Given the description of an element on the screen output the (x, y) to click on. 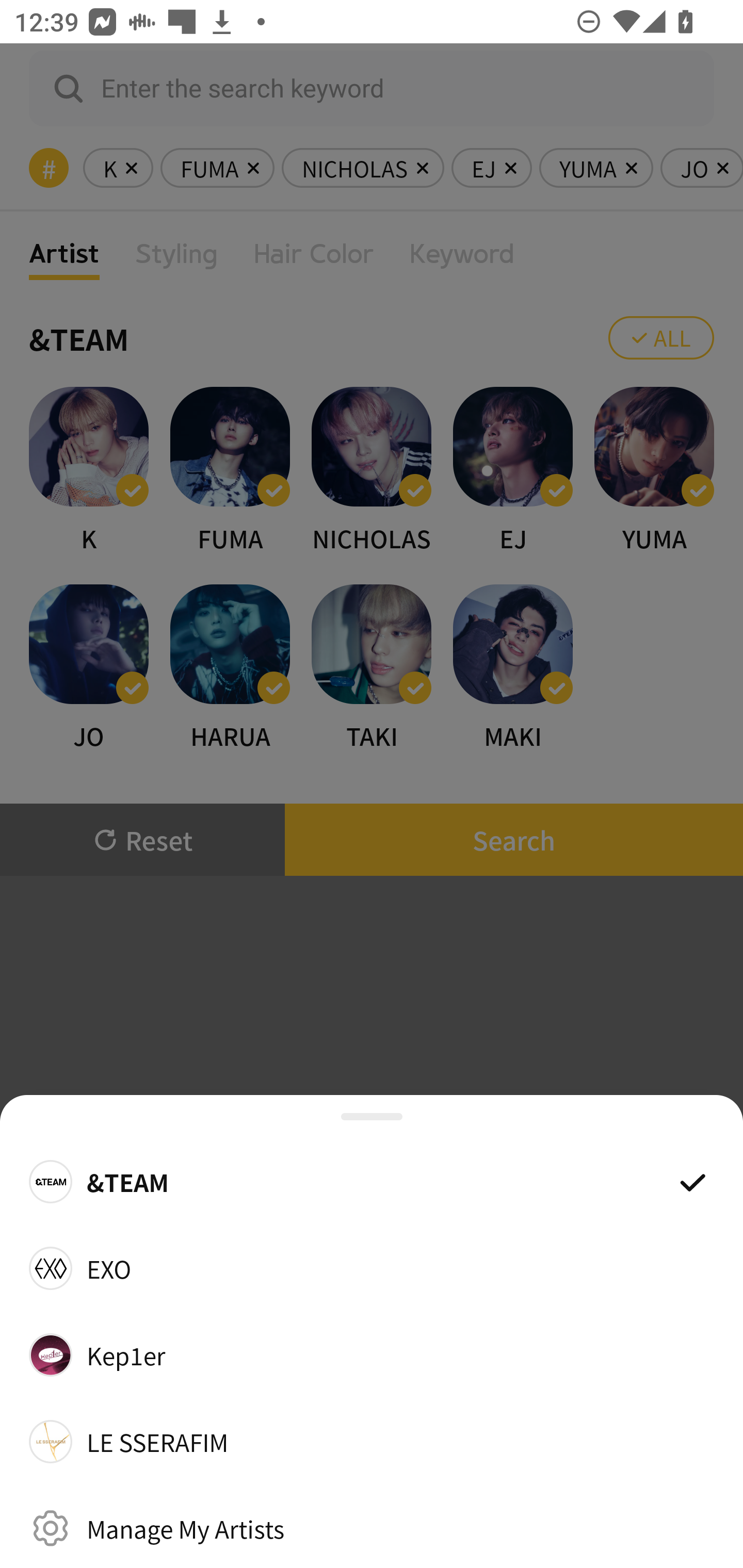
&TEAM (371, 1181)
EXO (371, 1268)
Kep1er (371, 1354)
LE SSERAFIM (371, 1441)
Manage My Artists (371, 1527)
